Given the description of an element on the screen output the (x, y) to click on. 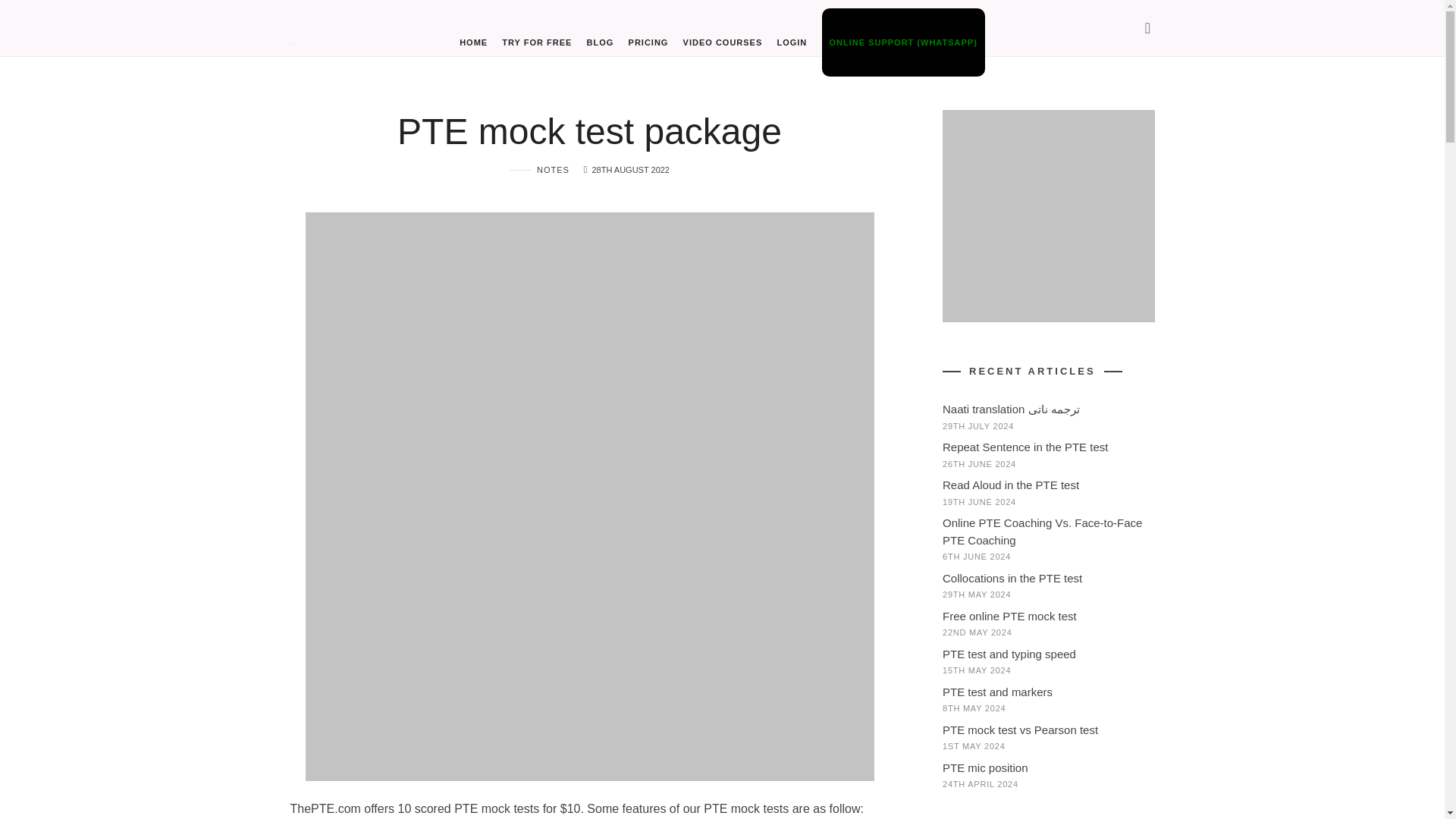
NOTES (539, 170)
28TH AUGUST 2022 (630, 169)
TRY FOR FREE (537, 42)
VIDEO COURSES (722, 42)
Repeat Sentence in the PTE test (1024, 446)
Read Aloud in the PTE test (1010, 484)
